Given the description of an element on the screen output the (x, y) to click on. 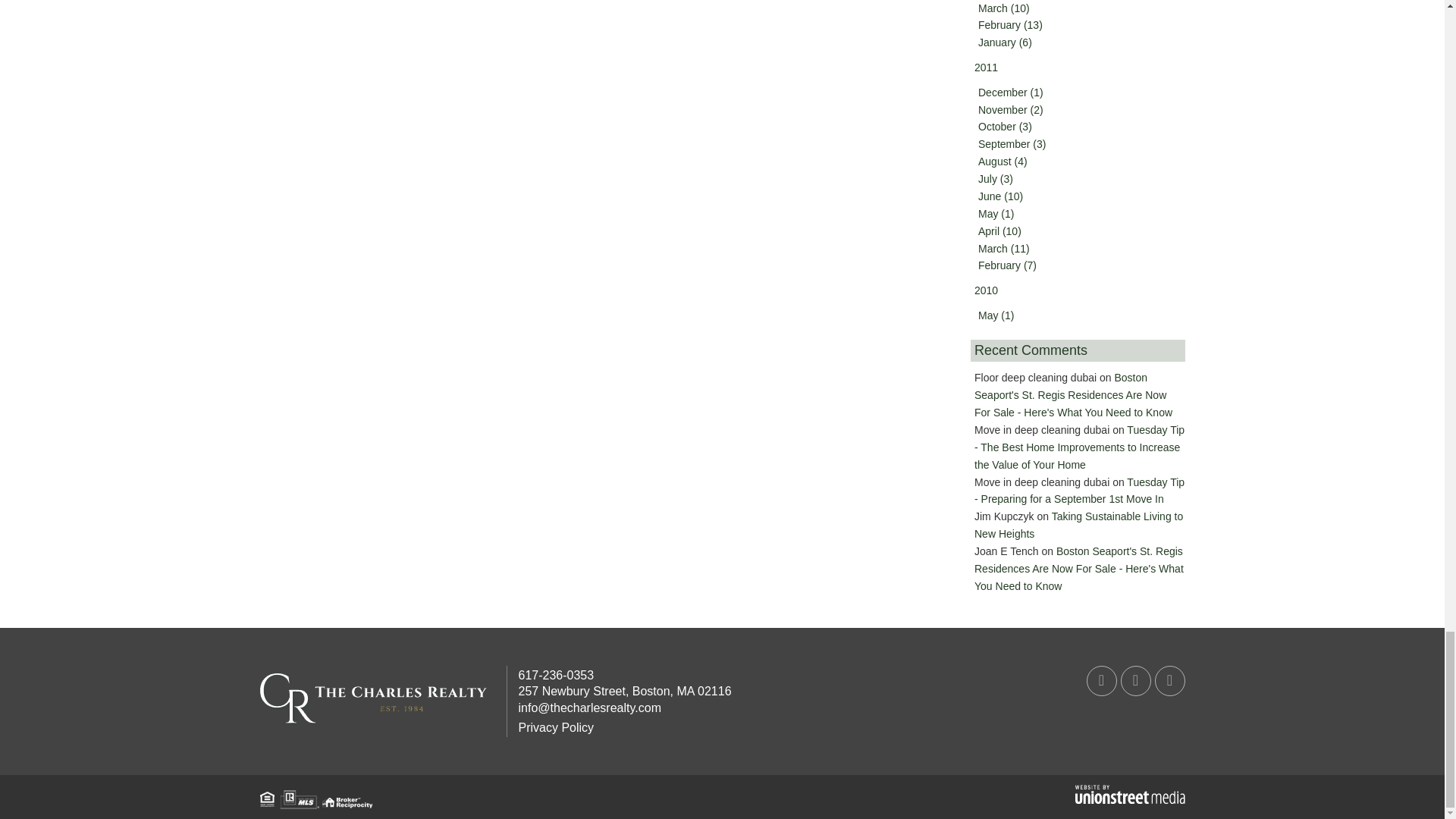
Association logos (315, 799)
Instagram (1169, 680)
Facebook (1101, 680)
Twitter (1136, 680)
